Given the description of an element on the screen output the (x, y) to click on. 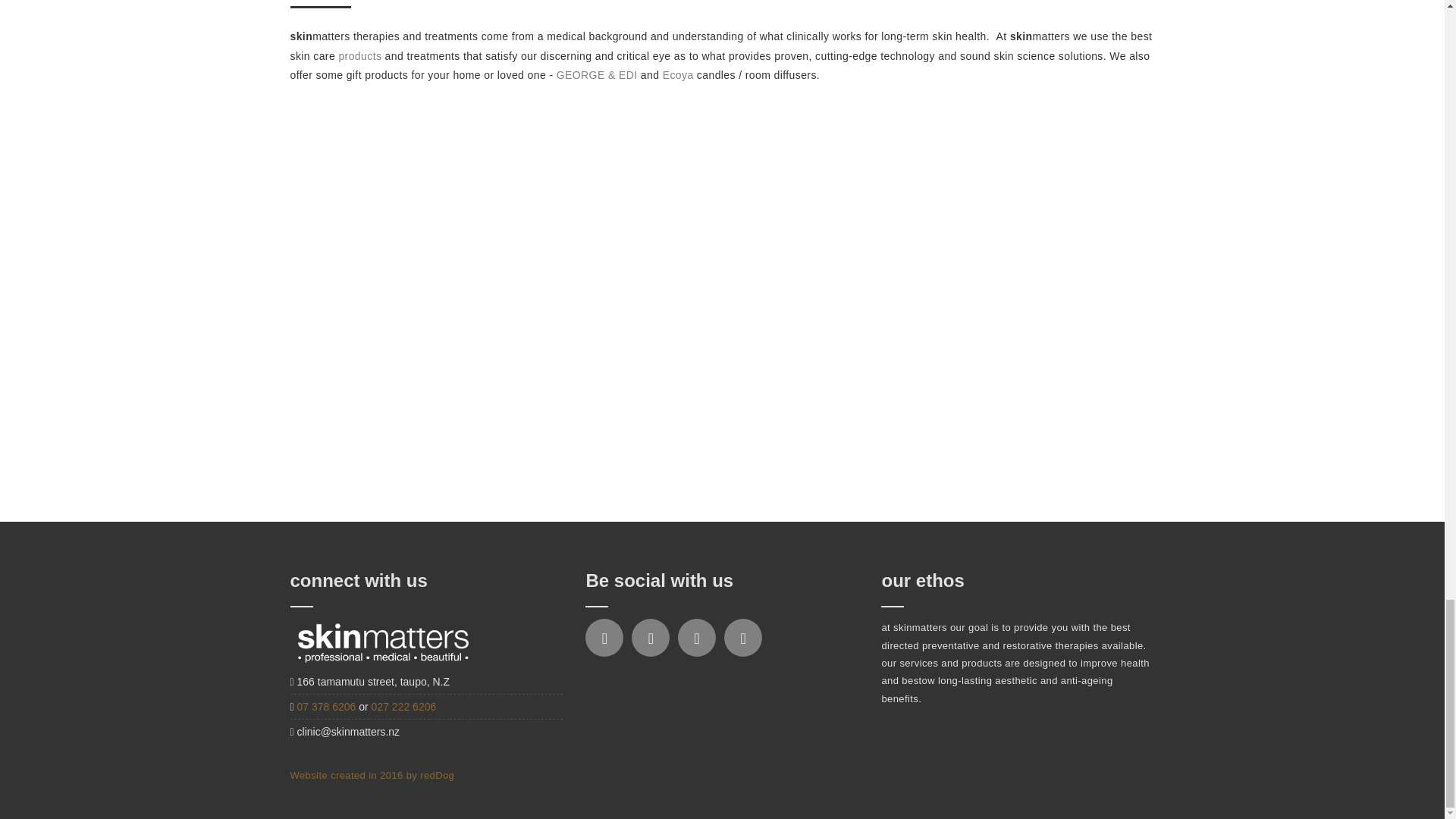
Website created in 2016 by redDog (371, 775)
07 378 6206 (328, 706)
Ecoya (678, 74)
027 222 6206 (403, 706)
products (359, 55)
